Given the description of an element on the screen output the (x, y) to click on. 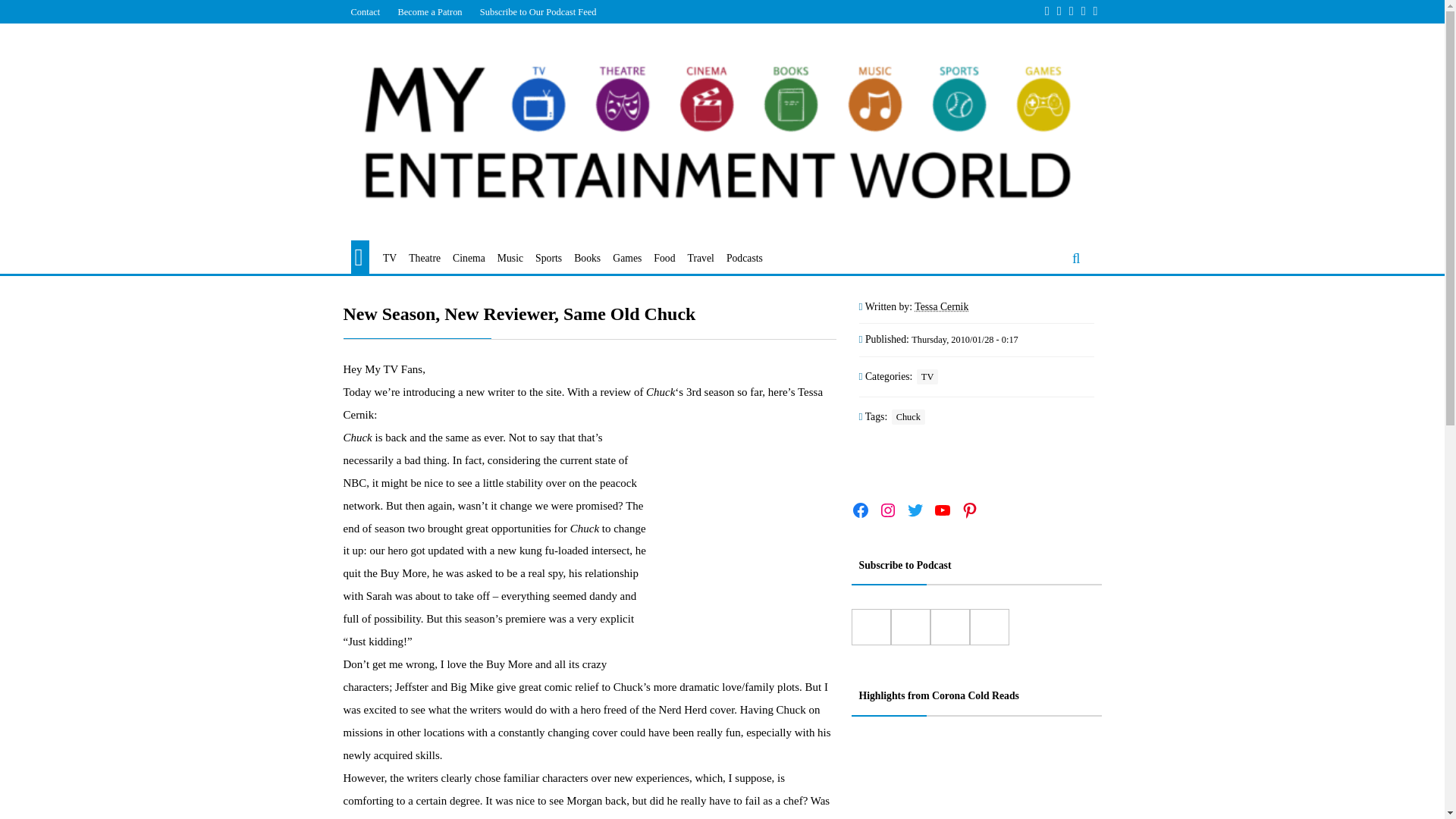
YouTube (941, 510)
Chuck (907, 417)
TV (927, 376)
Tessa Cernik (941, 306)
Become a Patron (429, 10)
Instagram (886, 510)
Twitter (914, 510)
TV (389, 258)
New Season, New Reviewer, Same Old Chuck (588, 314)
Pinterest (968, 510)
Travel (700, 258)
Search (170, 27)
Subscribe to Our Podcast Feed (537, 10)
Subscribe by Email (949, 627)
Music (509, 258)
